Given the description of an element on the screen output the (x, y) to click on. 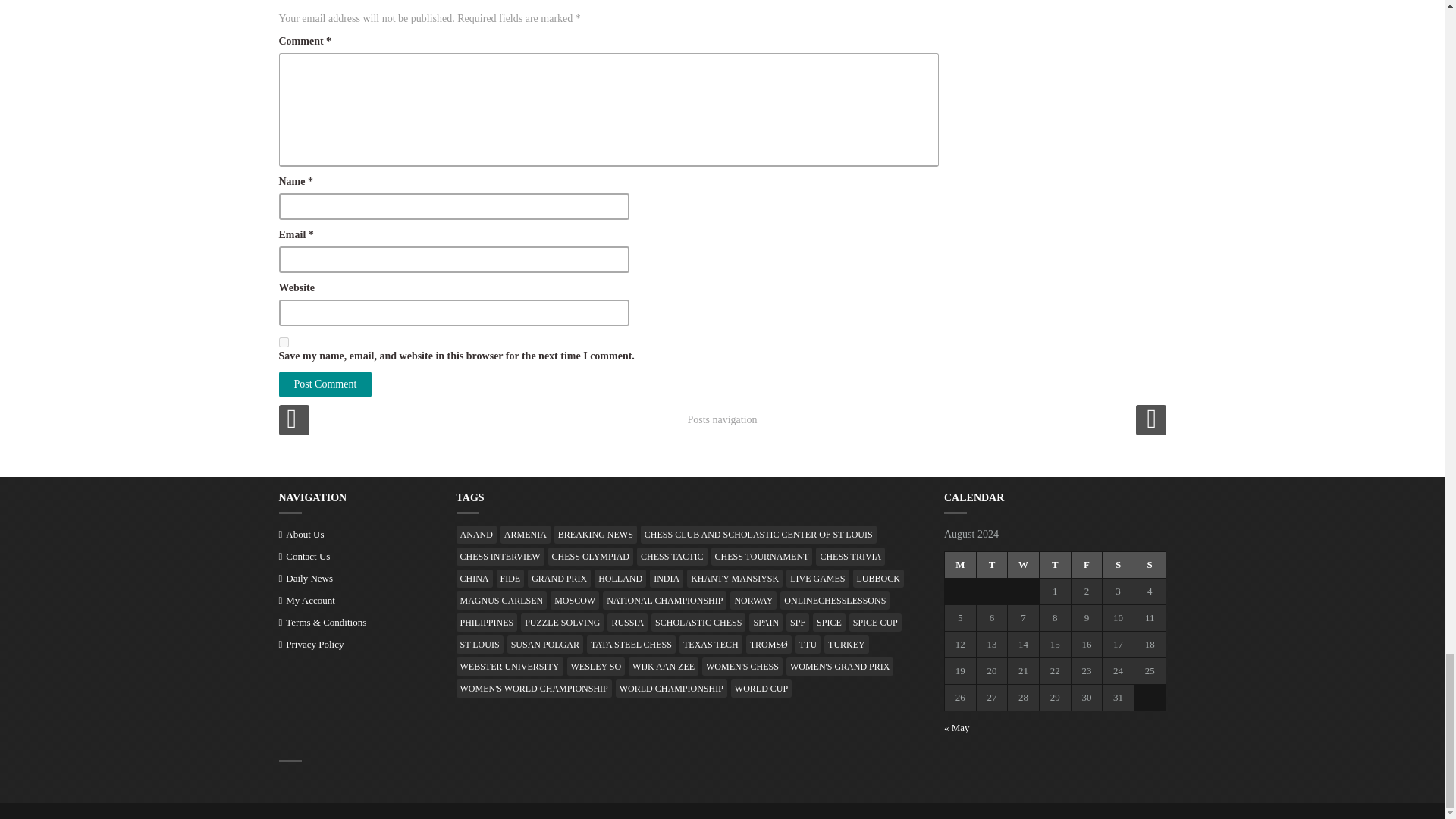
yes (283, 341)
Post Comment (325, 384)
